Given the description of an element on the screen output the (x, y) to click on. 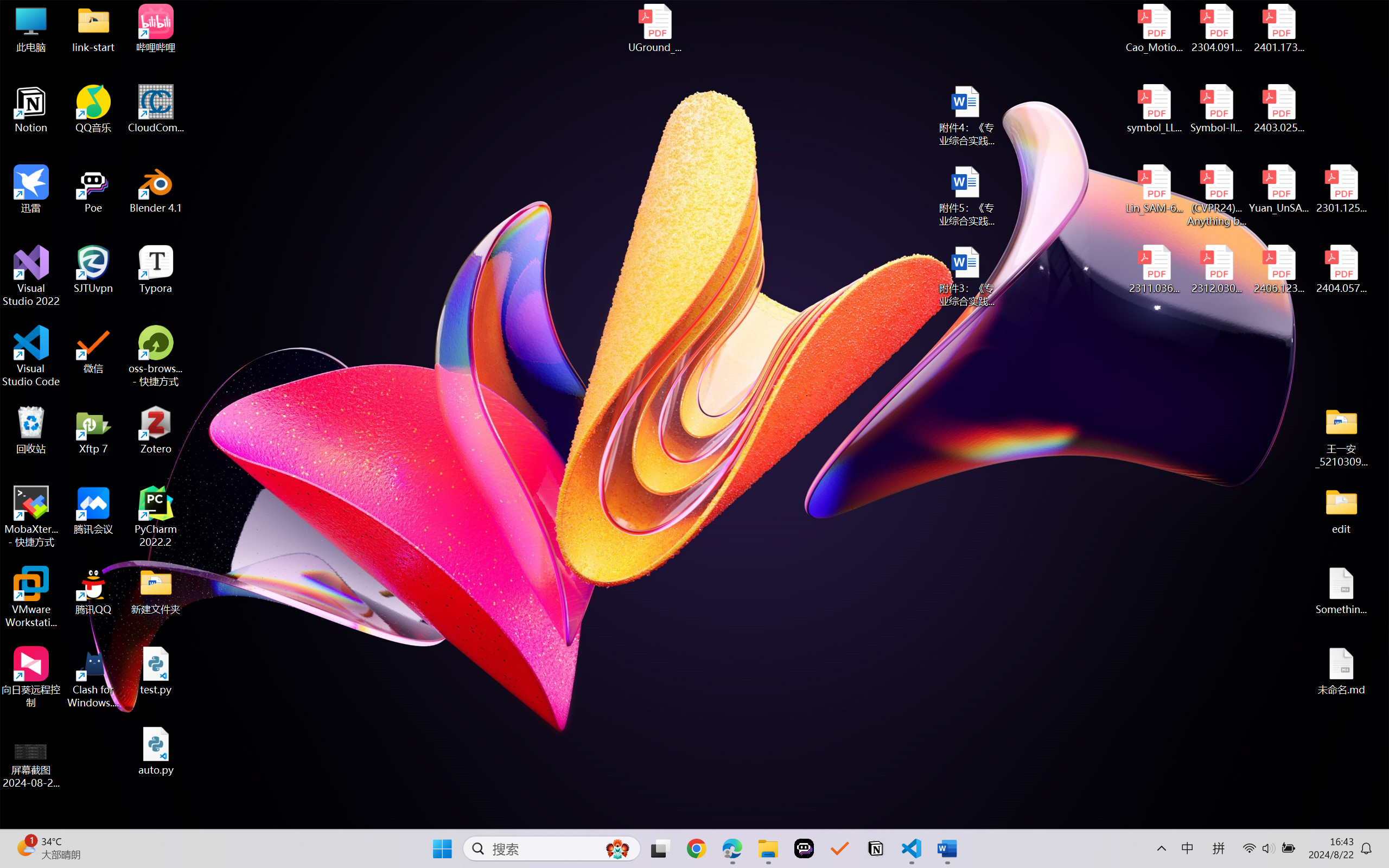
2404.05719v1.pdf (1340, 269)
auto.py (156, 751)
Visual Studio 2022 (31, 276)
UGround_paper.pdf (654, 28)
